Given the description of an element on the screen output the (x, y) to click on. 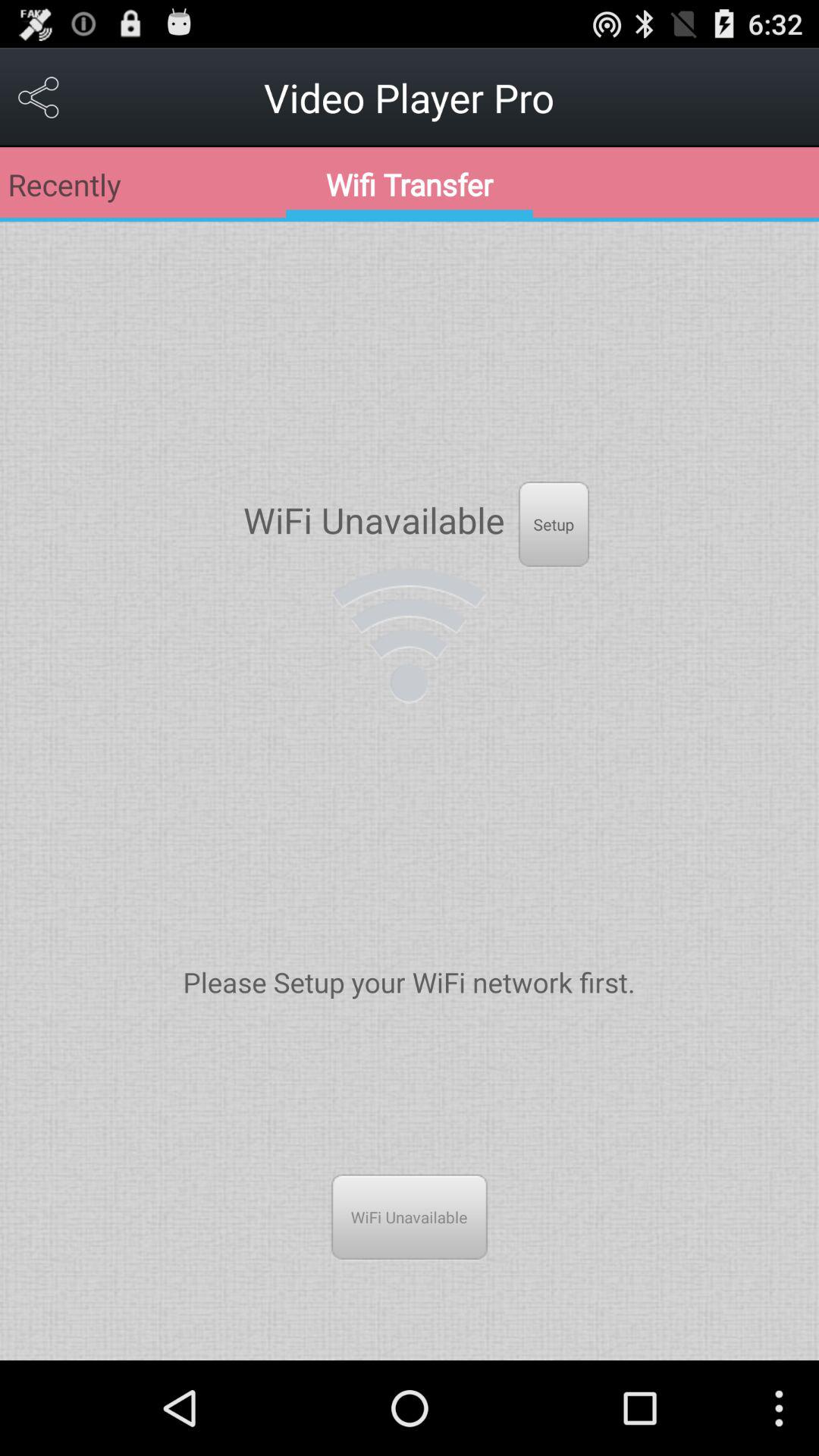
go to wifi option (409, 635)
